Given the description of an element on the screen output the (x, y) to click on. 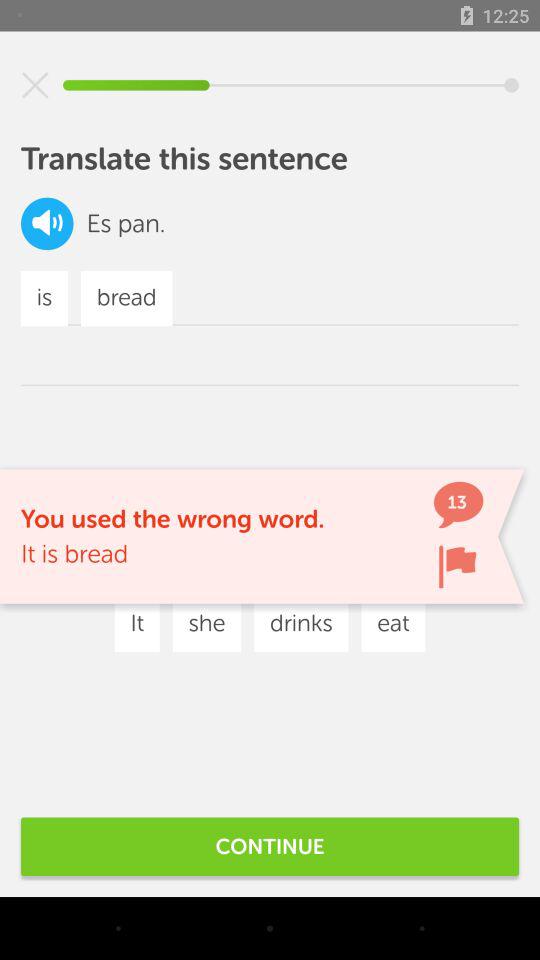
turn off icon to the right of the drinks (393, 624)
